Given the description of an element on the screen output the (x, y) to click on. 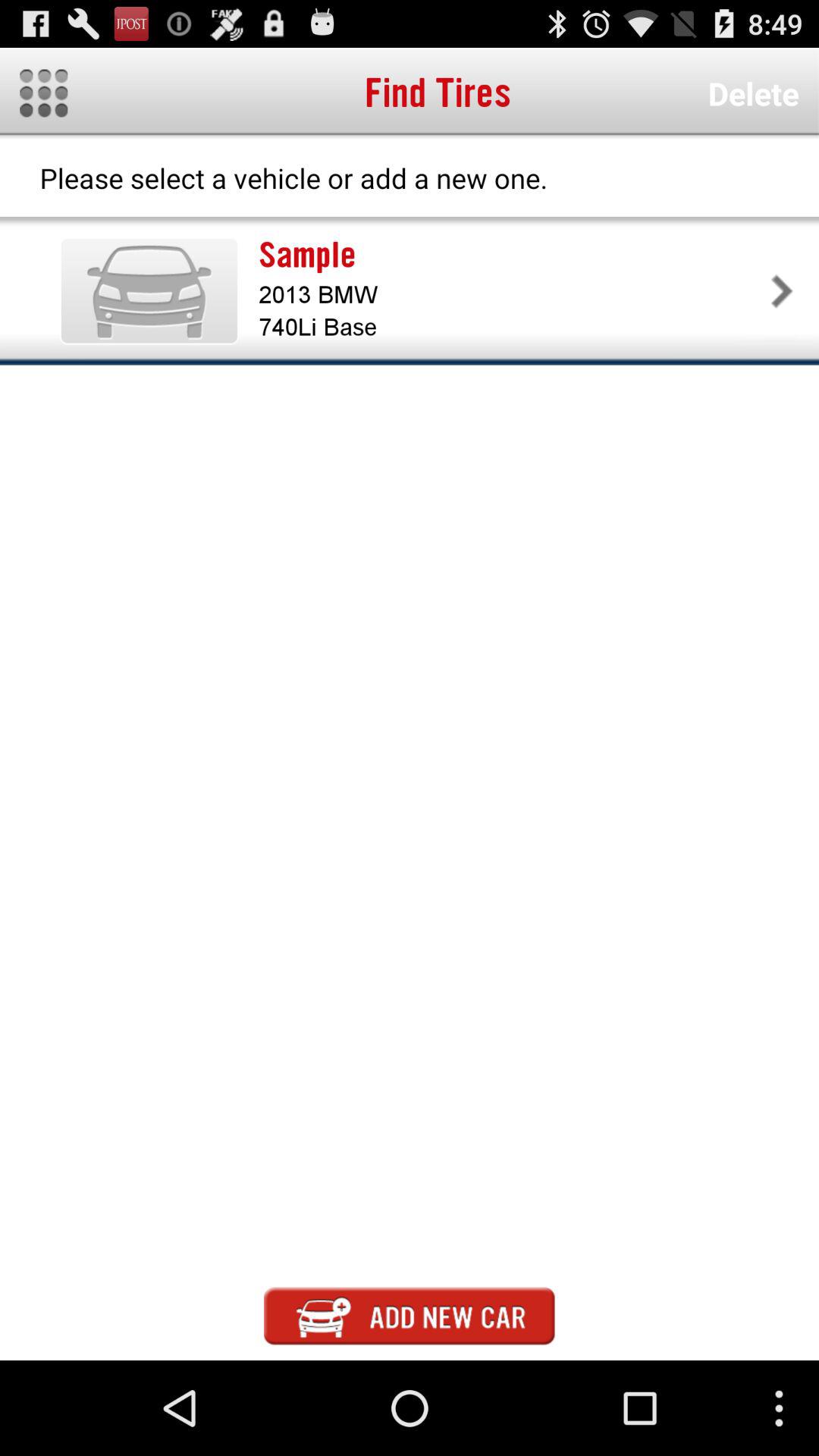
swipe to the 740li base app (511, 327)
